Given the description of an element on the screen output the (x, y) to click on. 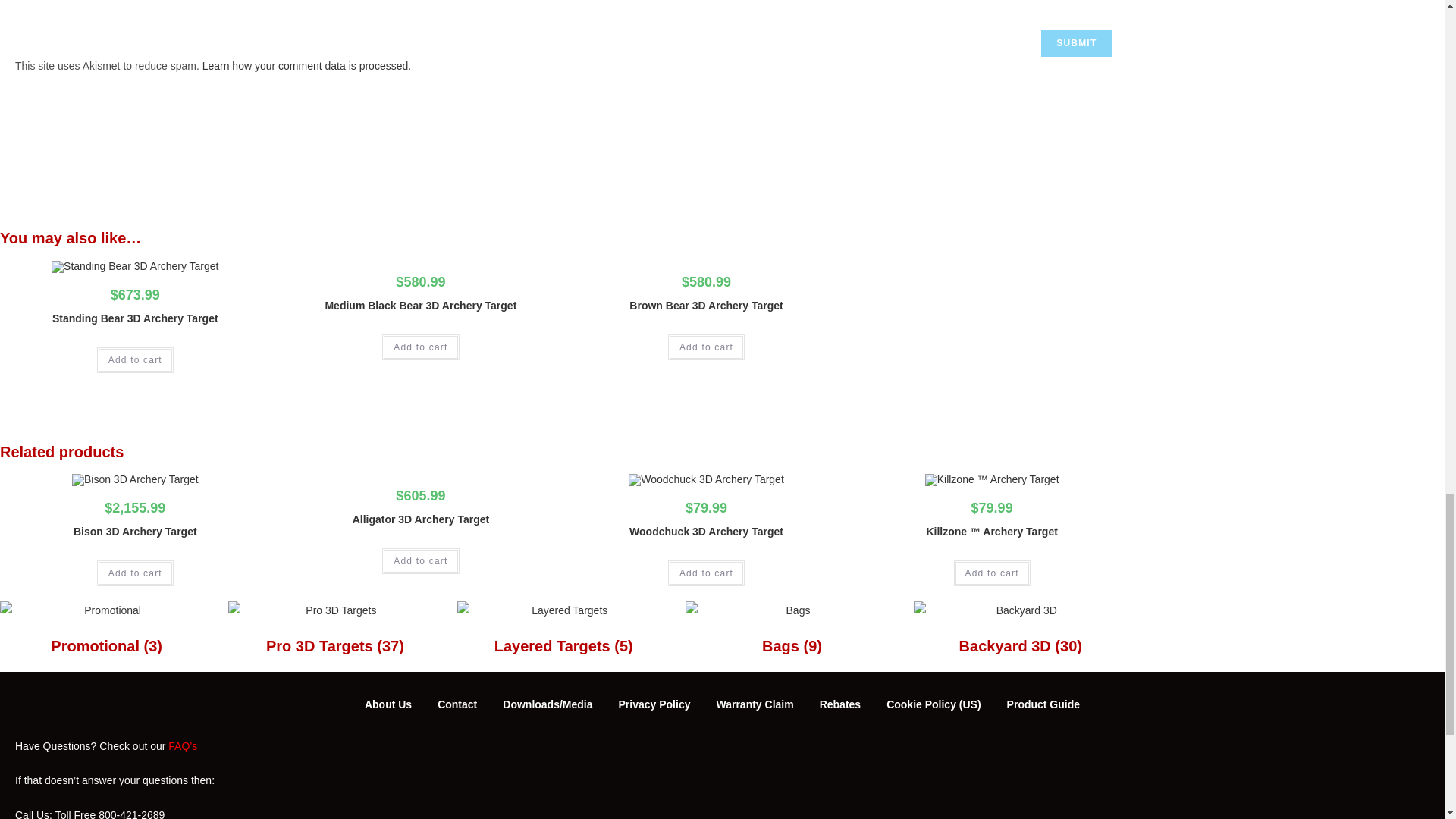
Minimum qty is 1 (991, 573)
Minimum qty is 1 (419, 347)
Minimum qty is 1 (135, 573)
Submit (1076, 42)
Minimum qty is 1 (135, 360)
Minimum qty is 1 (419, 560)
Minimum qty is 1 (706, 347)
Minimum qty is 1 (706, 573)
